Given the description of an element on the screen output the (x, y) to click on. 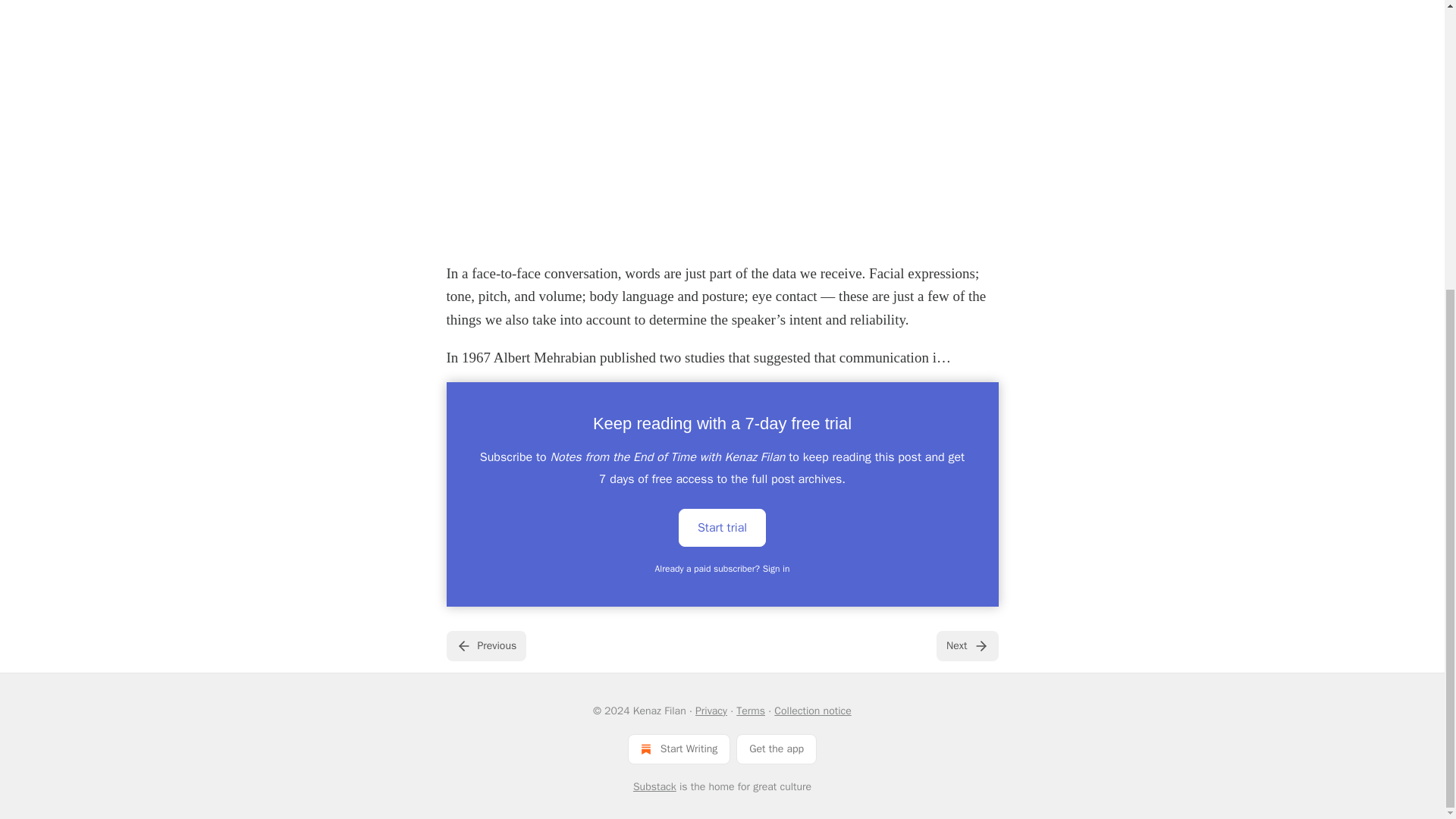
Collection notice (812, 710)
Start Writing (678, 748)
Next (966, 645)
Privacy (710, 710)
Start trial (721, 527)
Previous (485, 645)
Get the app (776, 748)
Already a paid subscriber? Sign in (722, 568)
Terms (750, 710)
Start trial (721, 526)
